Given the description of an element on the screen output the (x, y) to click on. 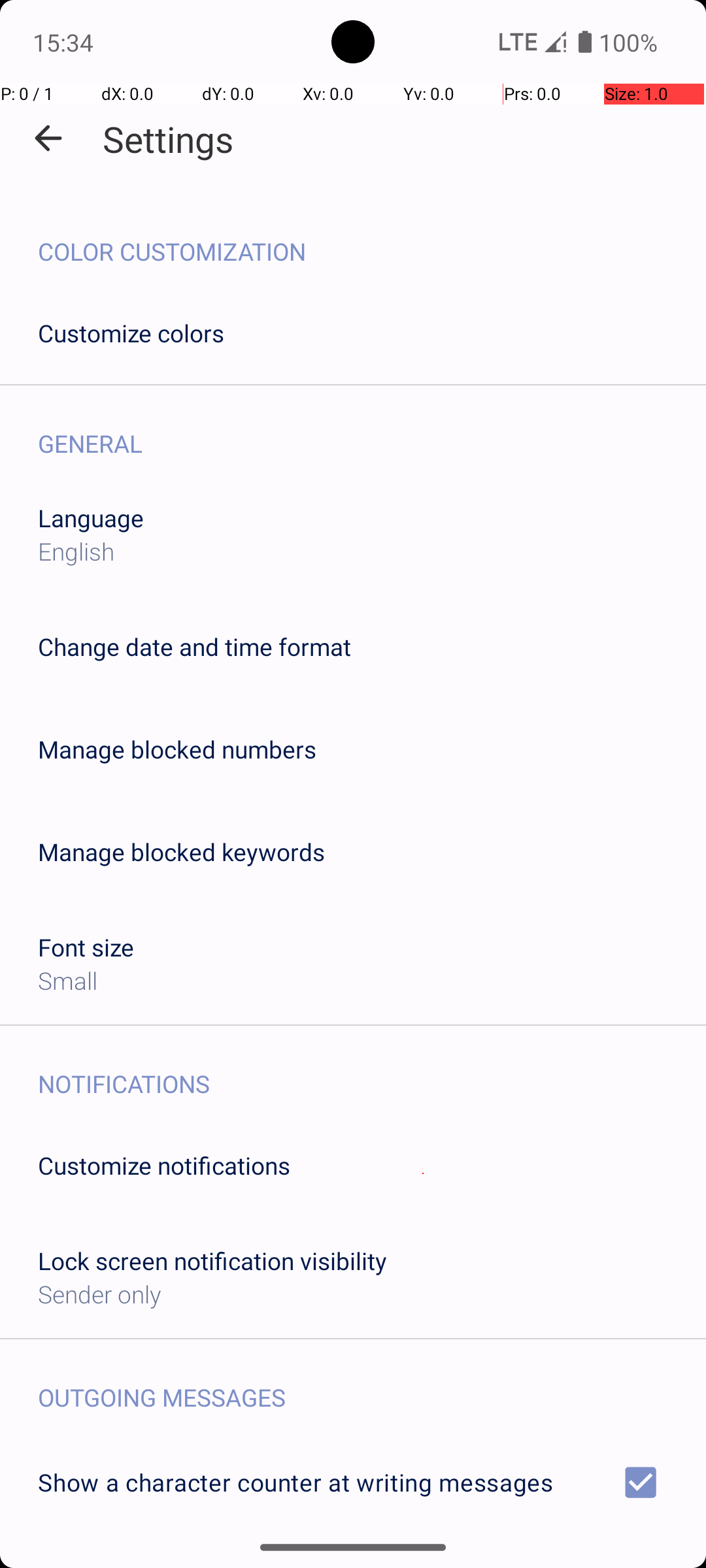
NOTIFICATIONS Element type: android.widget.TextView (371, 1069)
OUTGOING MESSAGES Element type: android.widget.TextView (371, 1383)
Font size Element type: android.widget.TextView (85, 946)
Small Element type: android.widget.TextView (67, 979)
Lock screen notification visibility Element type: android.widget.TextView (211, 1260)
Sender only Element type: android.widget.TextView (99, 1293)
Show a character counter at writing messages Element type: android.widget.CheckBox (352, 1482)
